Given the description of an element on the screen output the (x, y) to click on. 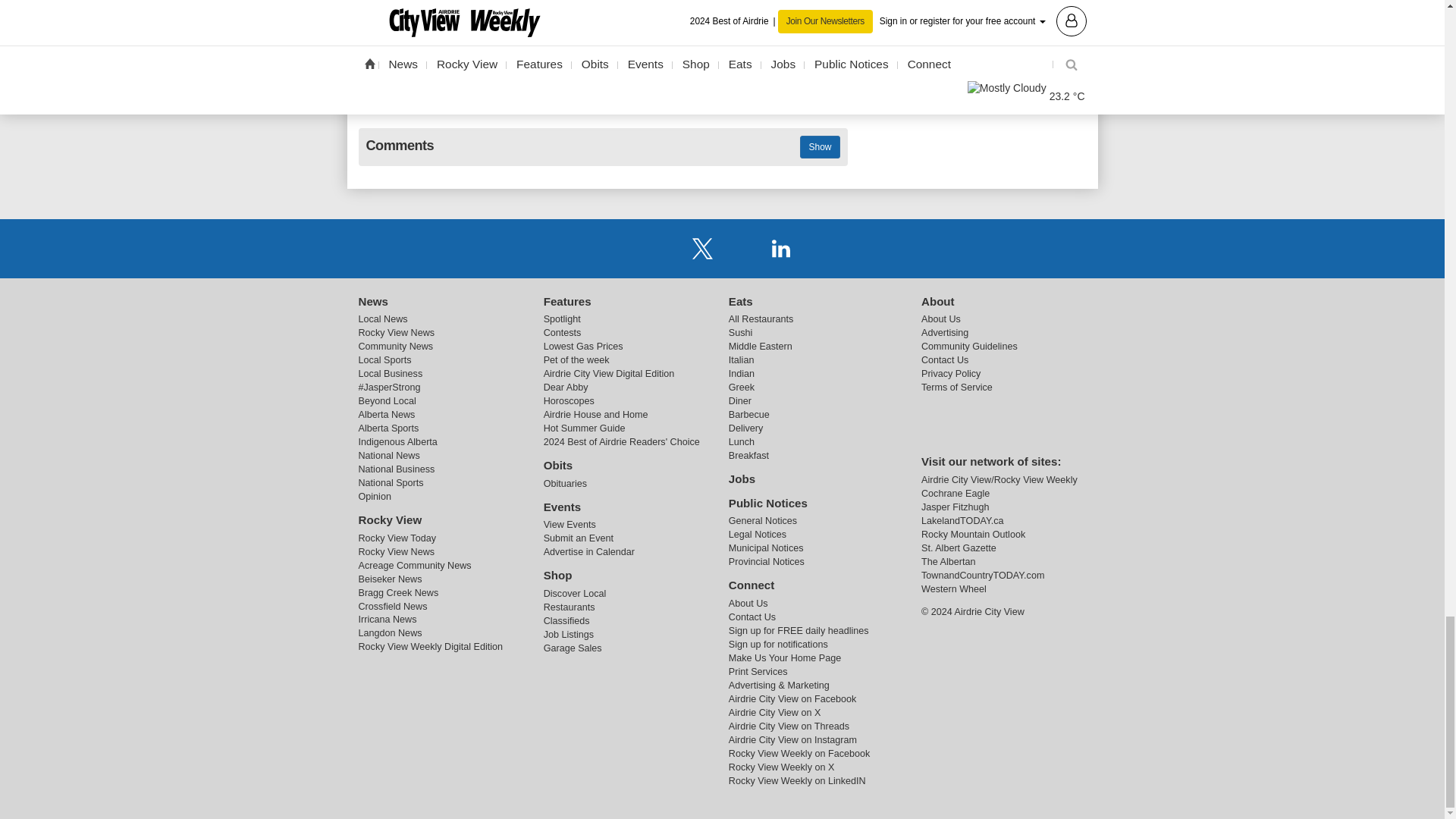
LinkedIn (780, 247)
X (702, 247)
Facebook (663, 247)
Instagram (741, 247)
